Given the description of an element on the screen output the (x, y) to click on. 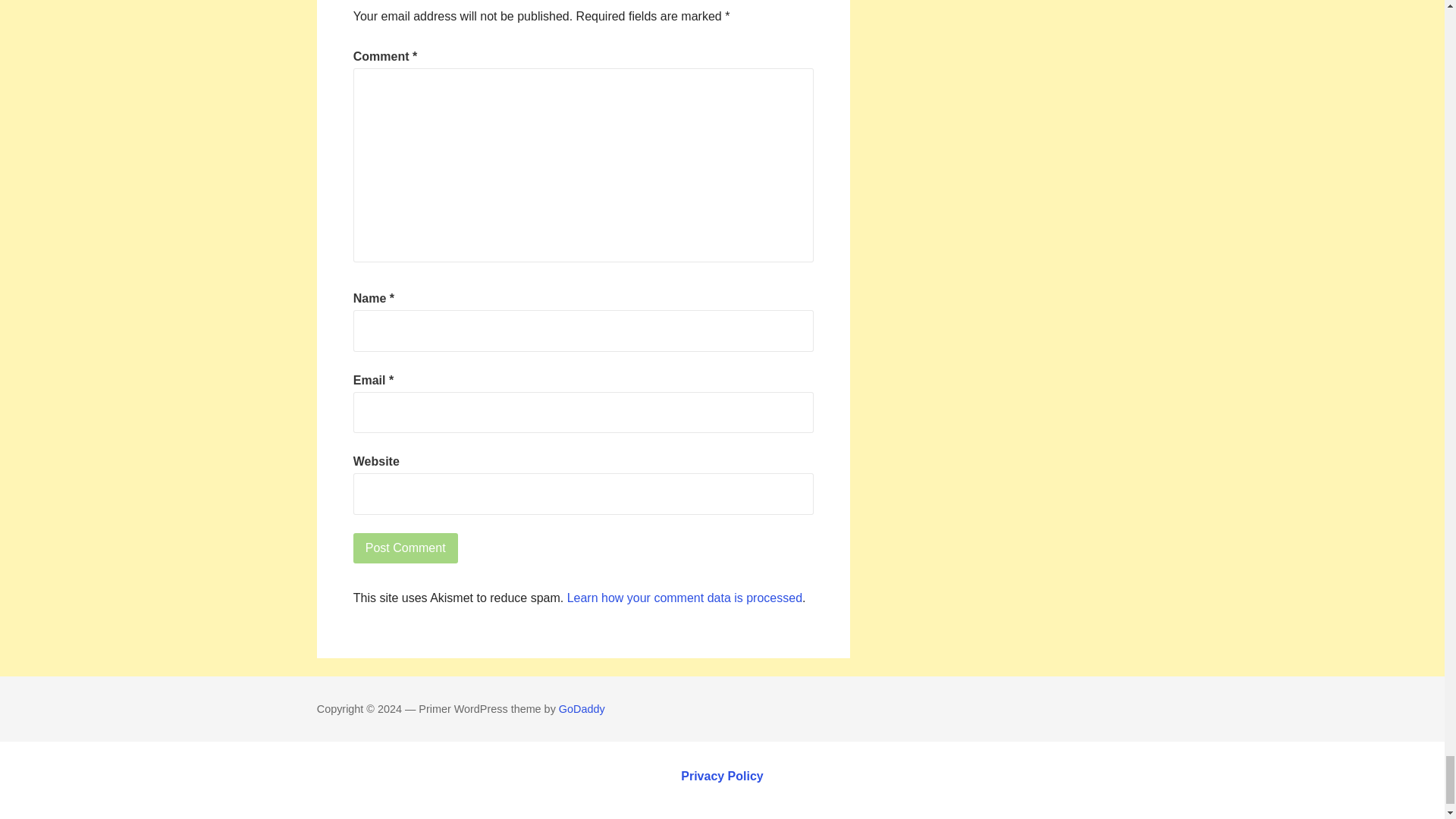
Post Comment (405, 548)
